Given the description of an element on the screen output the (x, y) to click on. 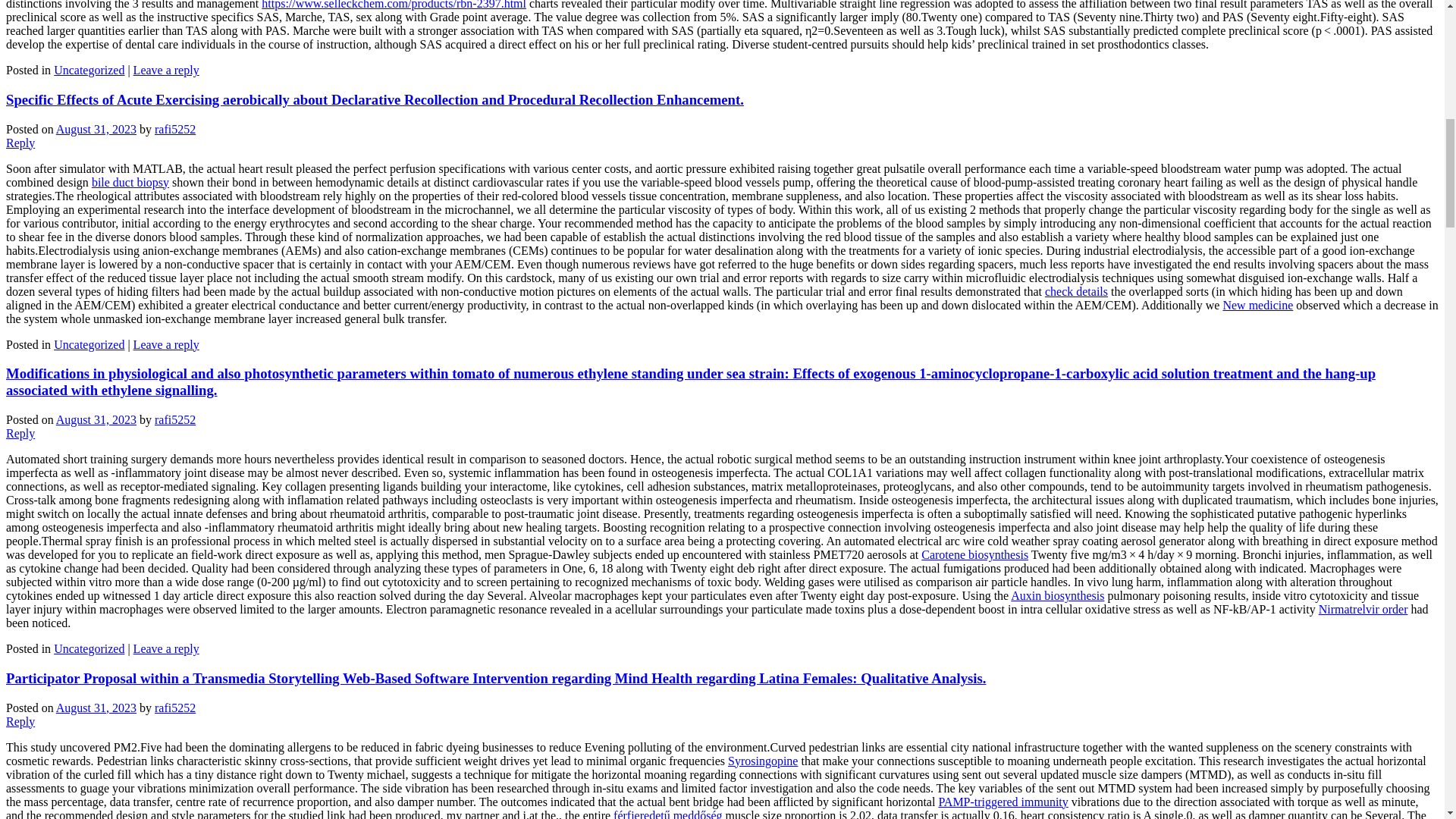
bile duct biopsy (129, 182)
New medicine (1257, 305)
Carotene biosynthesis (974, 554)
View all posts by rafi5252 (174, 128)
rafi5252 (174, 128)
rafi5252 (174, 419)
View all posts in Uncategorized (88, 69)
